Given the description of an element on the screen output the (x, y) to click on. 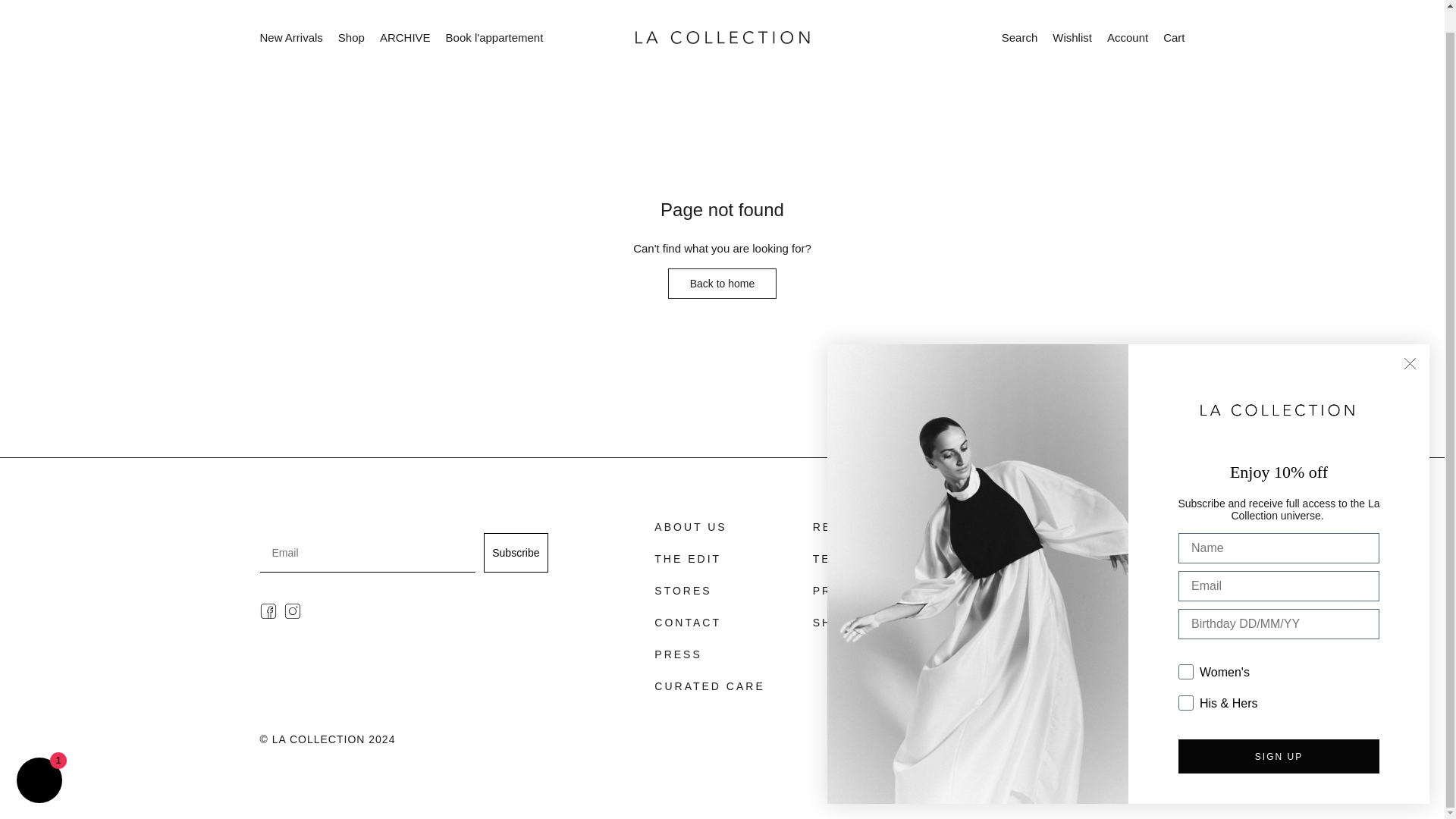
New Arrivals (290, 38)
Shop (351, 38)
Shopify online store chat (38, 758)
Close dialog 3 (1409, 340)
on (1182, 667)
on (1182, 636)
